Given the description of an element on the screen output the (x, y) to click on. 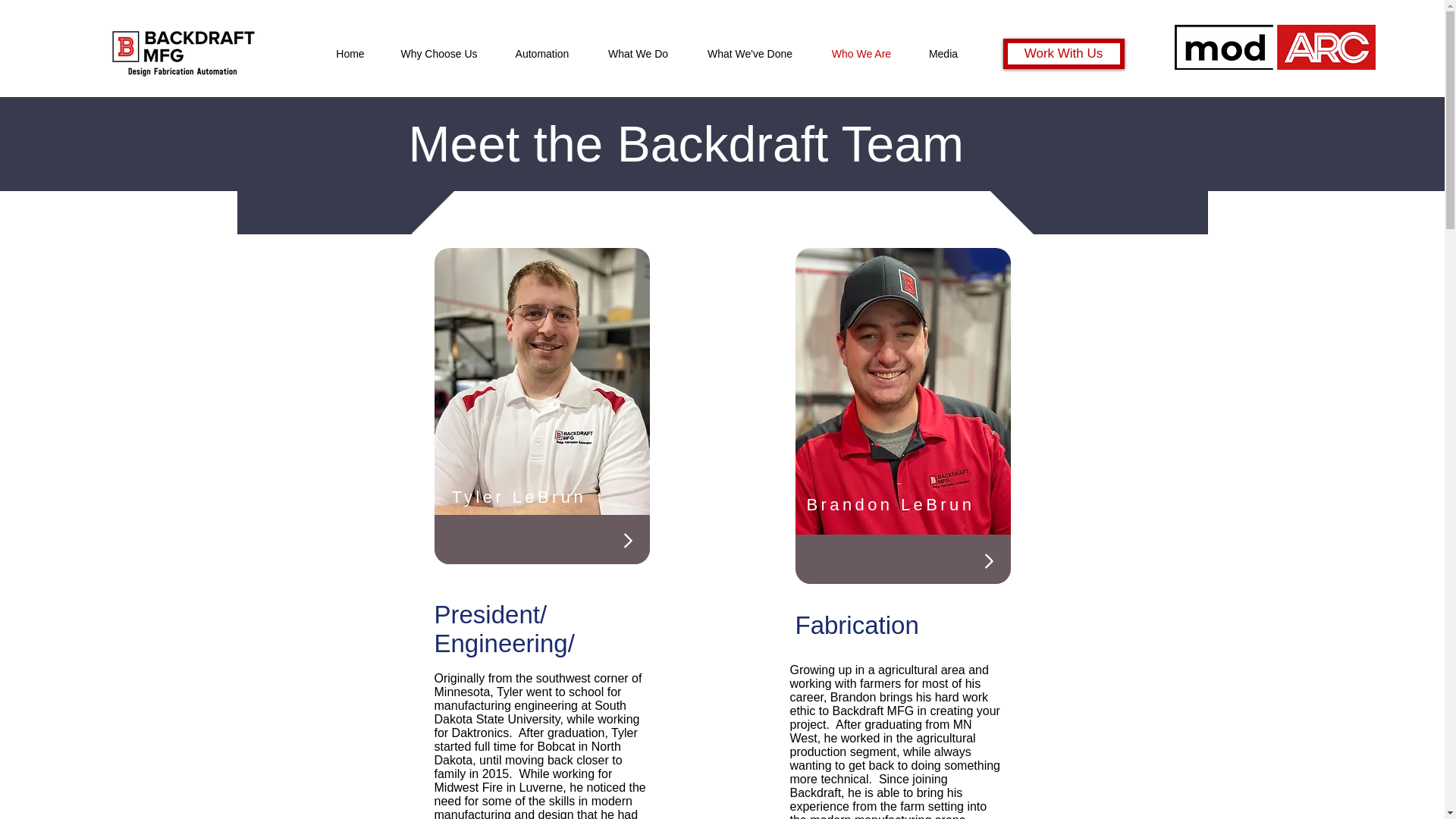
Home (350, 53)
Who We Are (861, 53)
Media (942, 53)
Work With Us (1063, 53)
Why Choose Us (438, 53)
What We've Done (749, 53)
What We Do (637, 53)
Automation (542, 53)
